Given the description of an element on the screen output the (x, y) to click on. 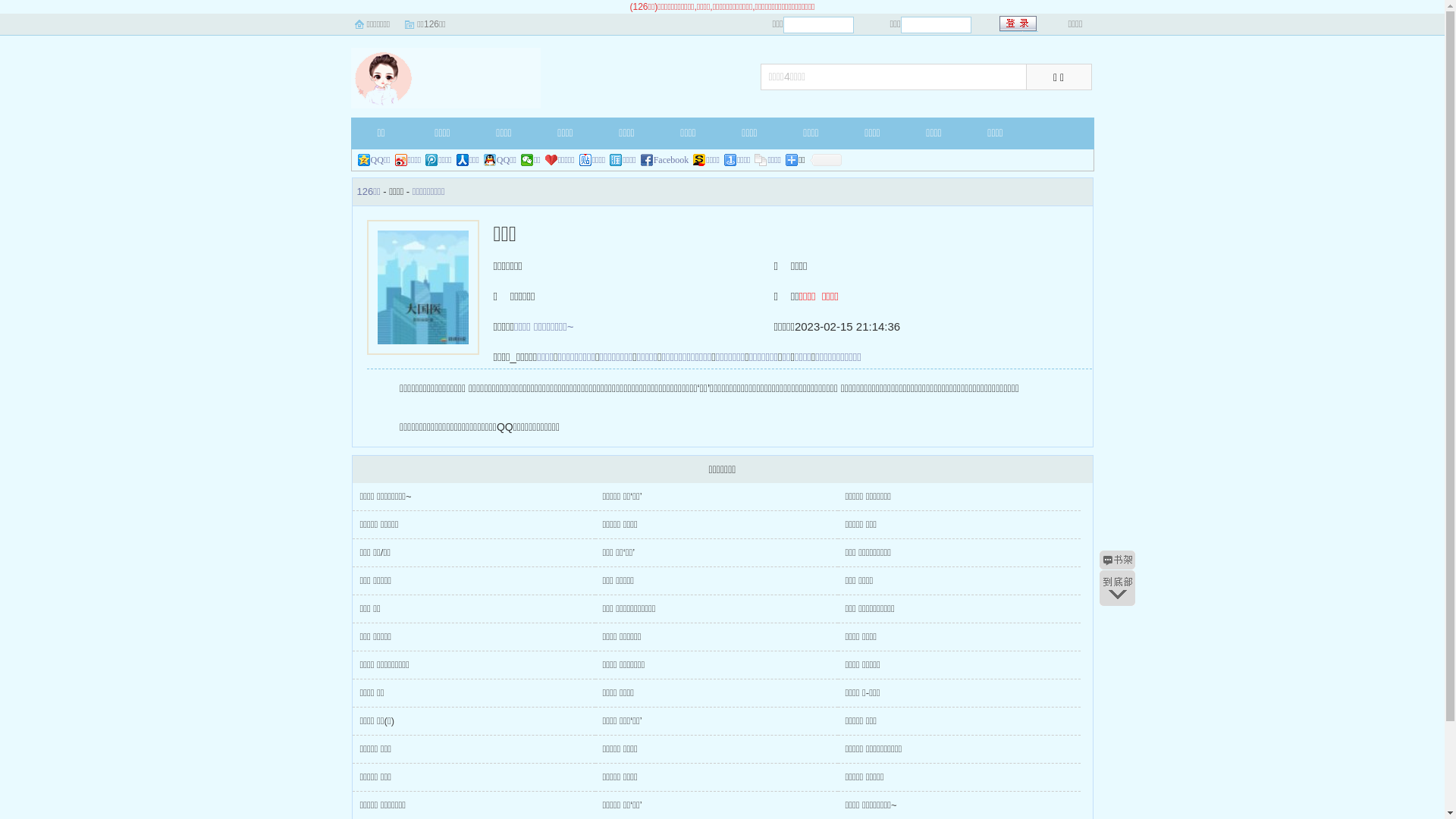
Facebook Element type: text (664, 159)
